Given the description of an element on the screen output the (x, y) to click on. 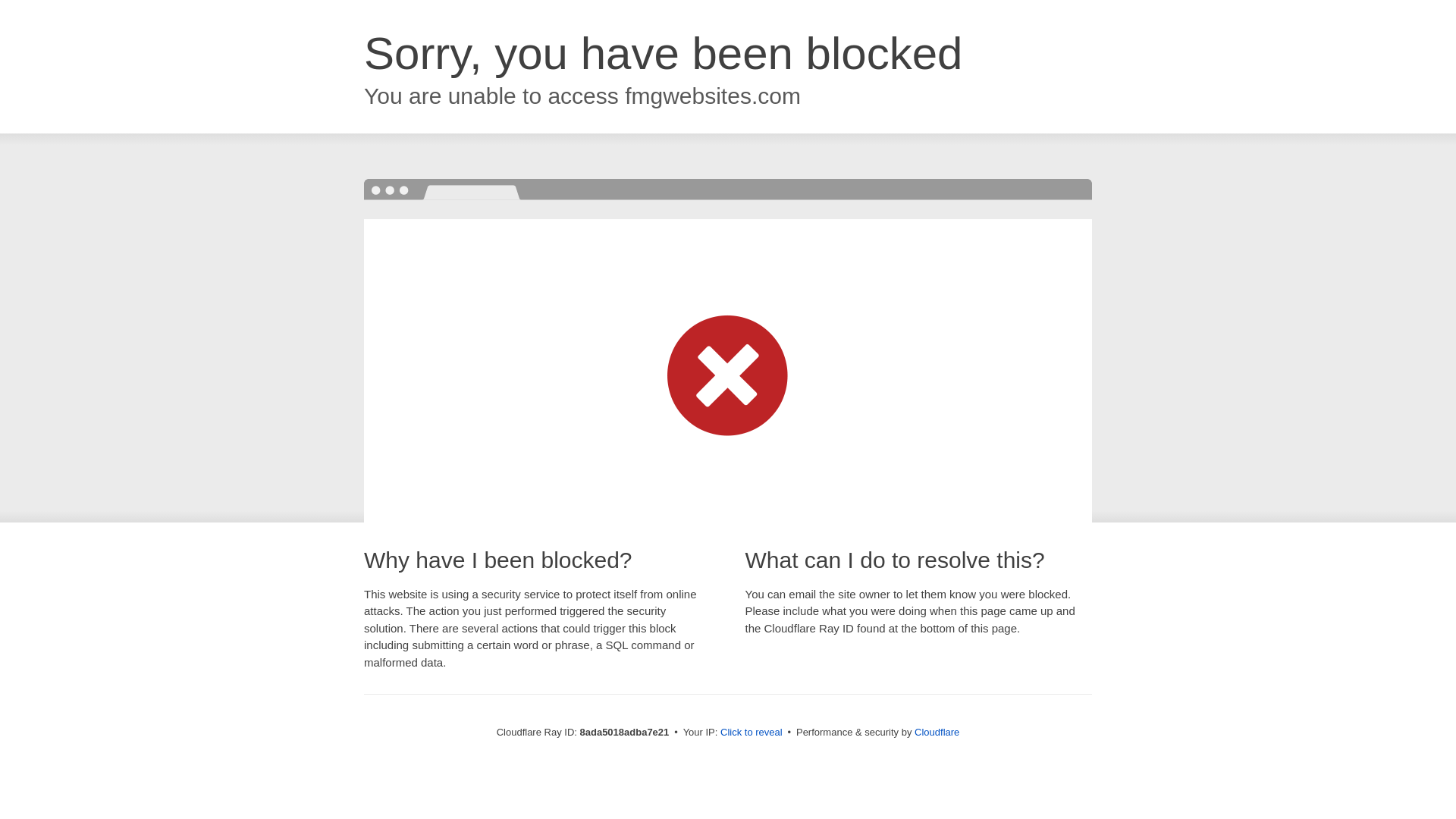
Click to reveal (751, 732)
Cloudflare (936, 731)
